Given the description of an element on the screen output the (x, y) to click on. 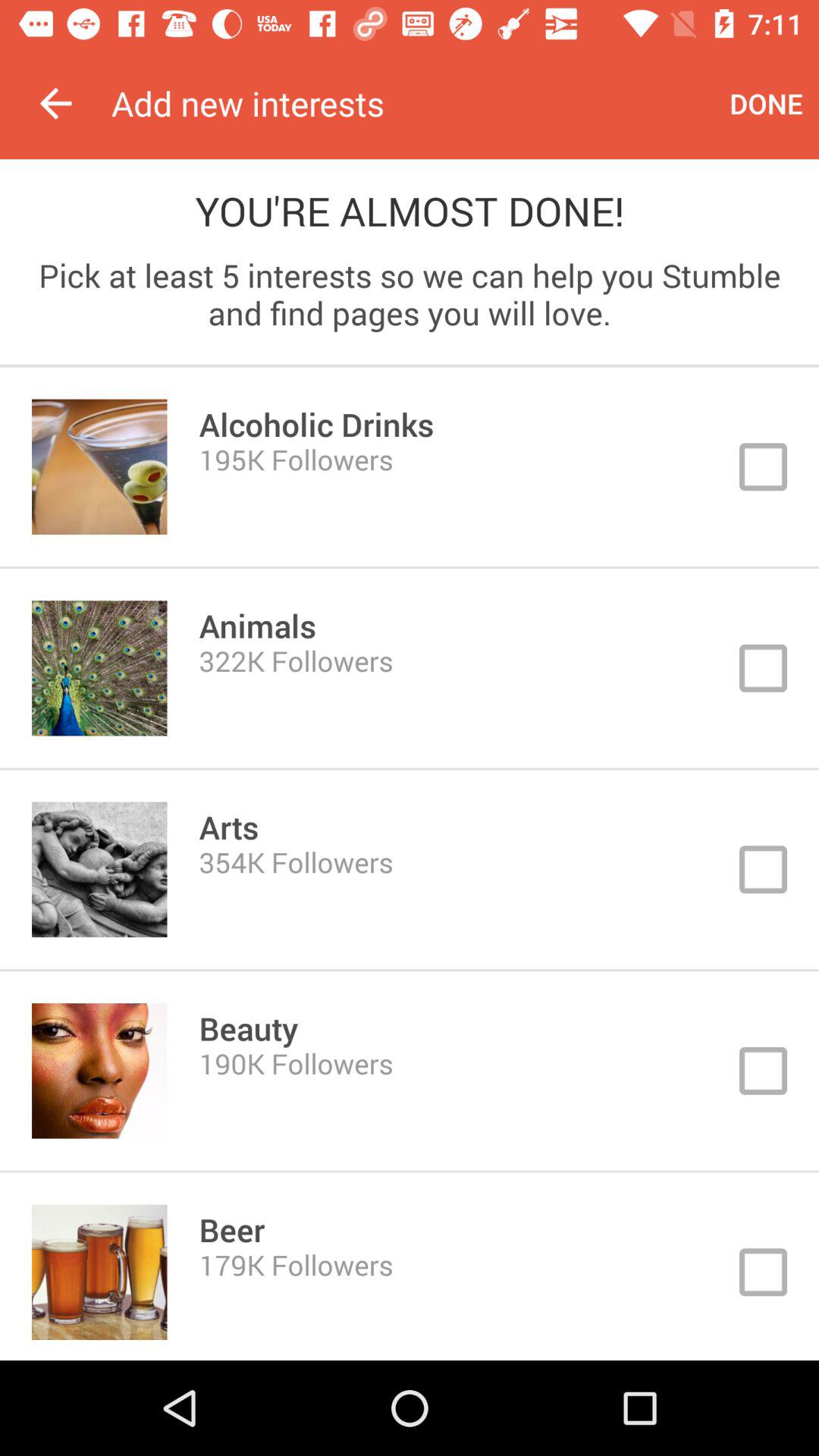
scroll until the add new interests (412, 103)
